Given the description of an element on the screen output the (x, y) to click on. 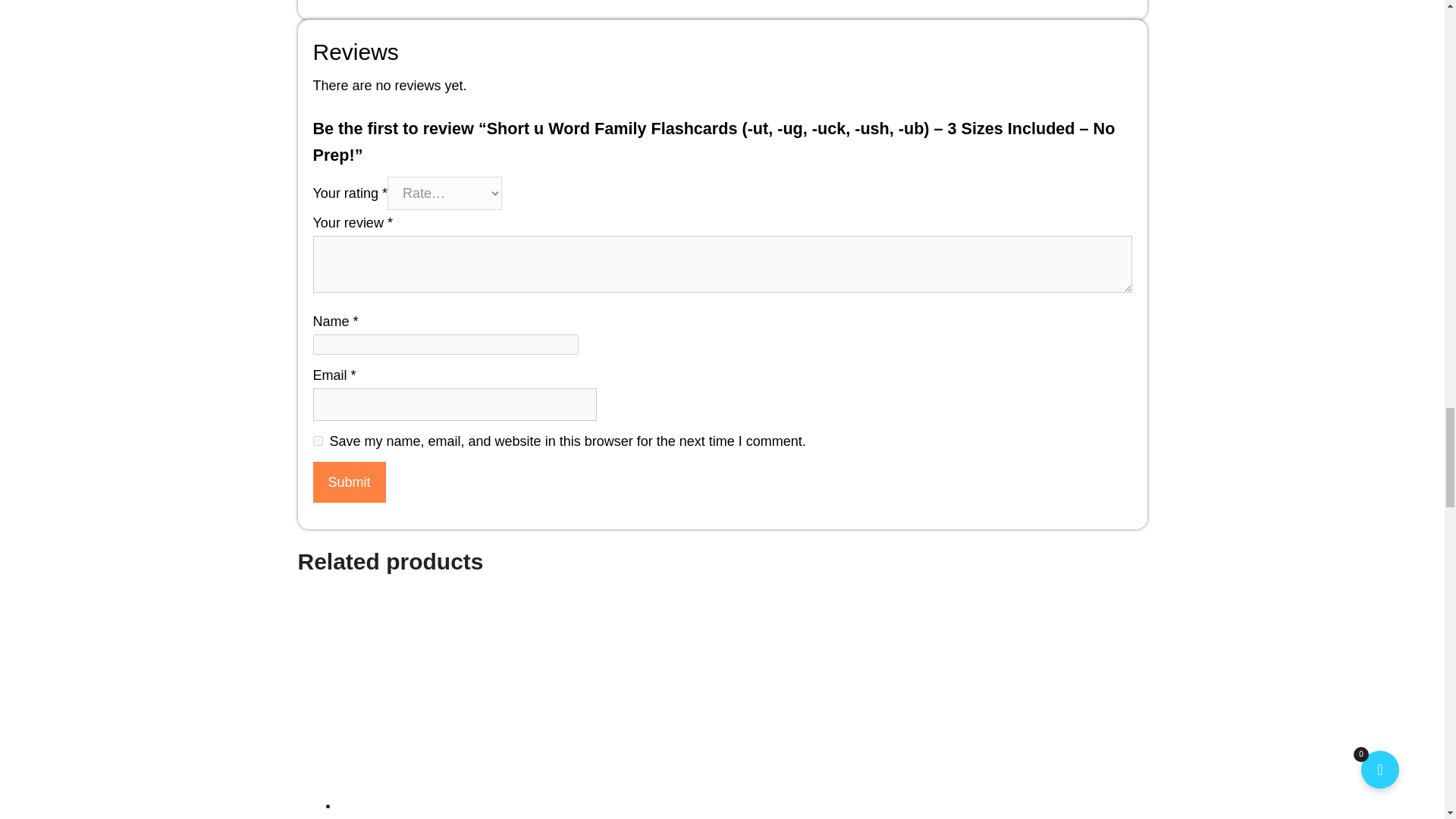
Submit (349, 481)
yes (317, 440)
